Given the description of an element on the screen output the (x, y) to click on. 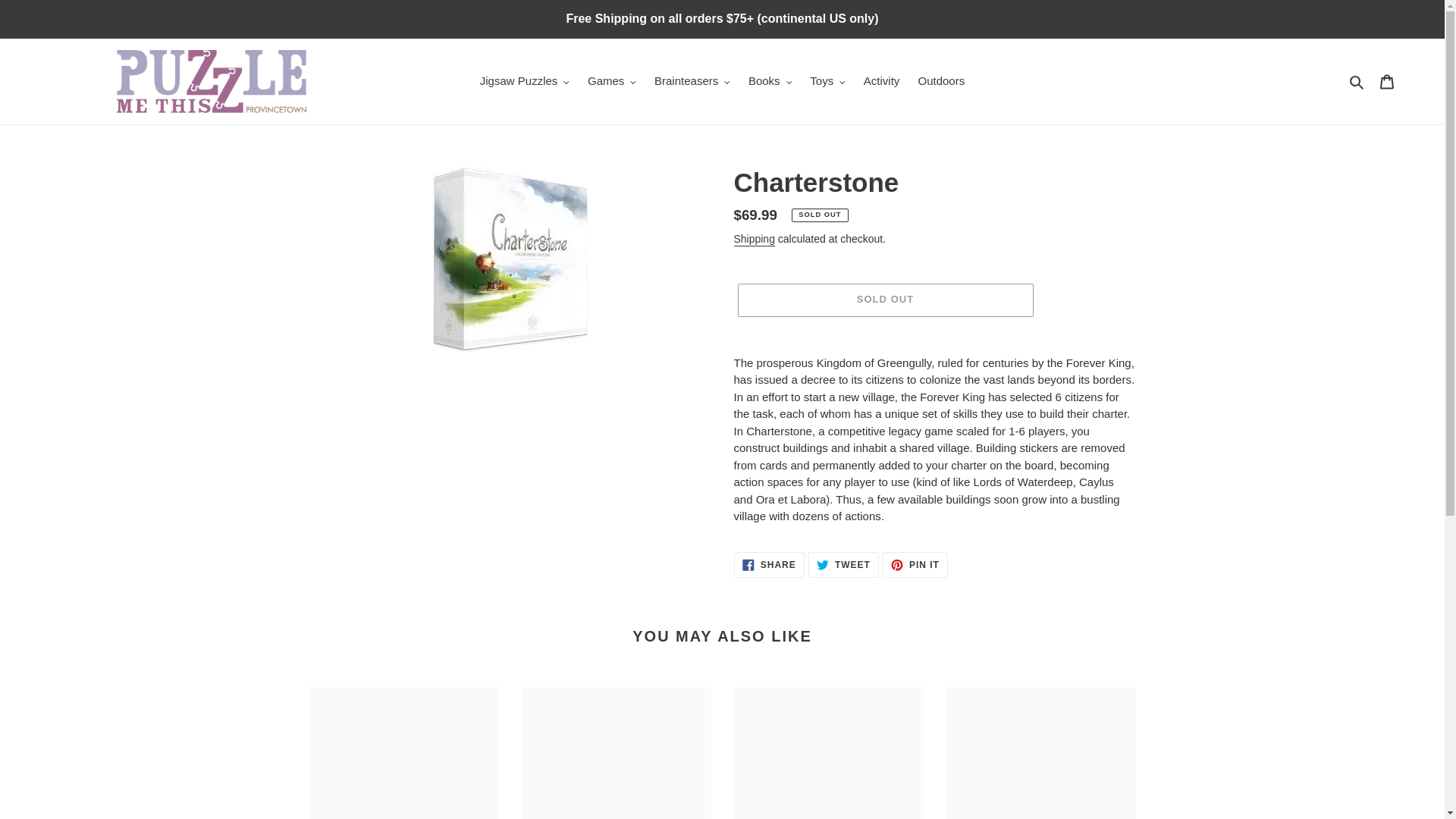
Brainteasers (692, 81)
Toys (826, 81)
Books (770, 81)
Games (611, 81)
Jigsaw Puzzles (523, 81)
